Given the description of an element on the screen output the (x, y) to click on. 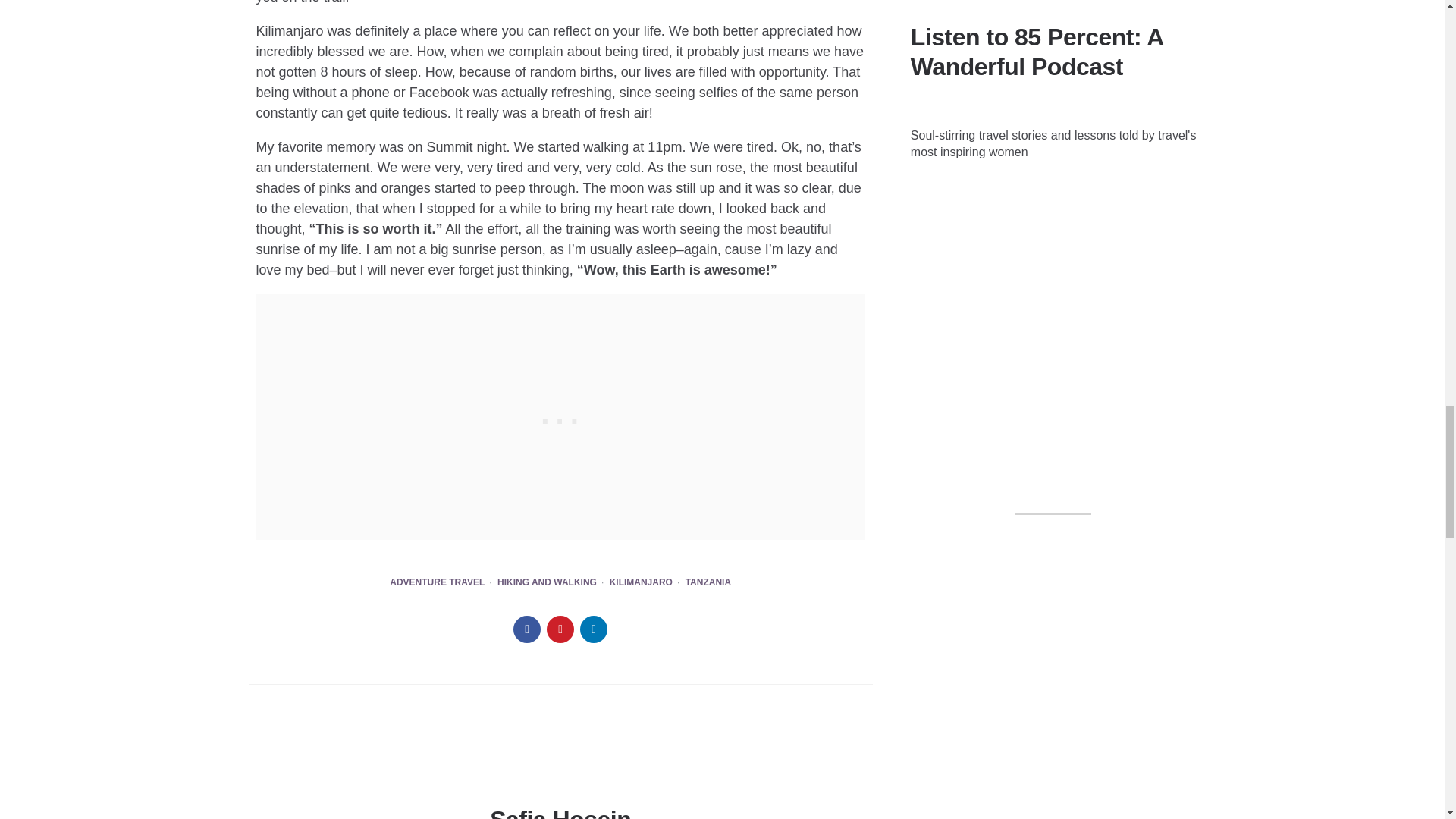
TANZANIA (707, 583)
ADVENTURE TRAVEL (437, 583)
KILIMANJARO (641, 583)
HIKING AND WALKING (546, 583)
